Given the description of an element on the screen output the (x, y) to click on. 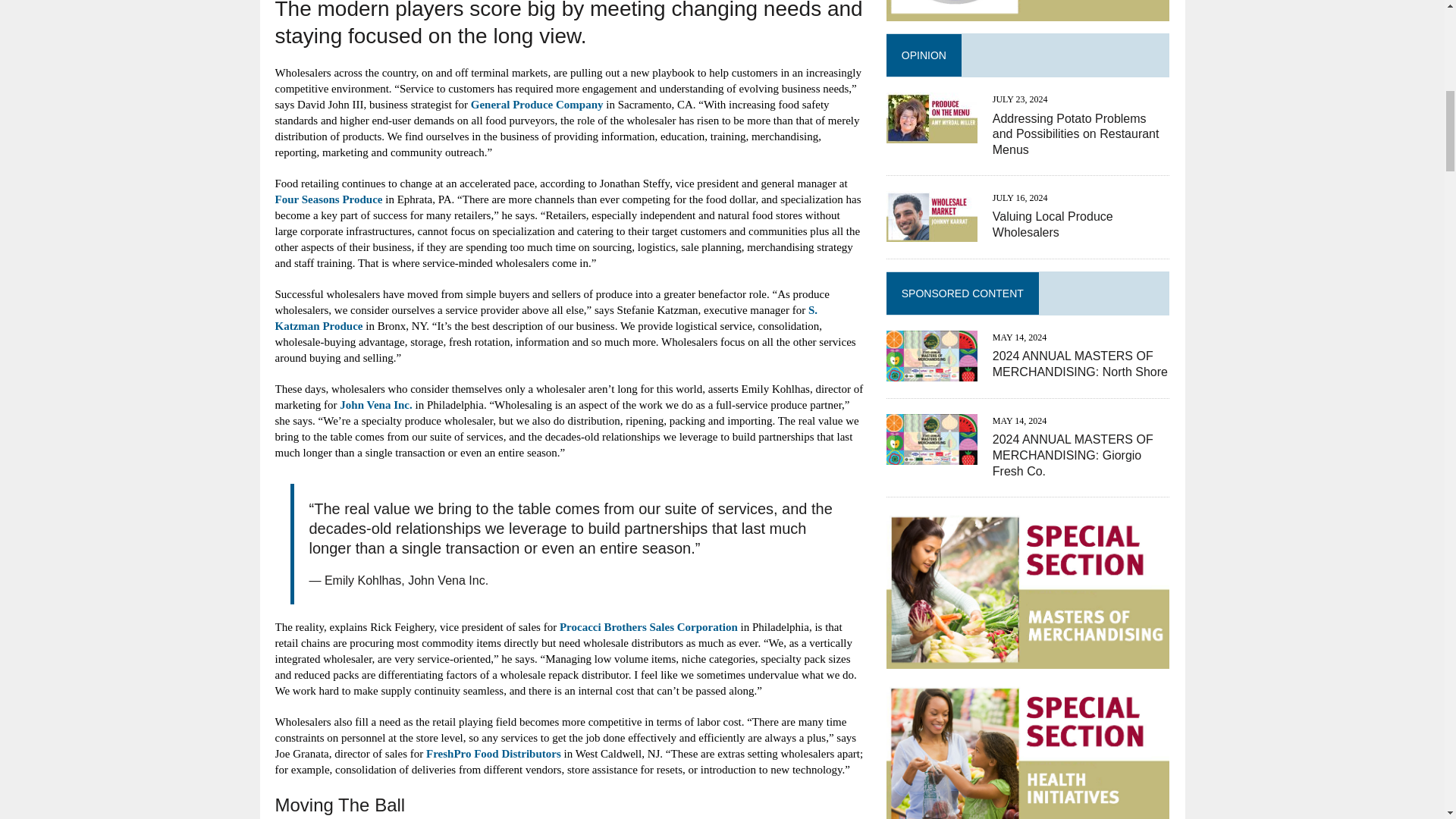
Valuing Local Produce Wholesalers (1052, 224)
Valuing Local Produce Wholesalers (931, 231)
